Given the description of an element on the screen output the (x, y) to click on. 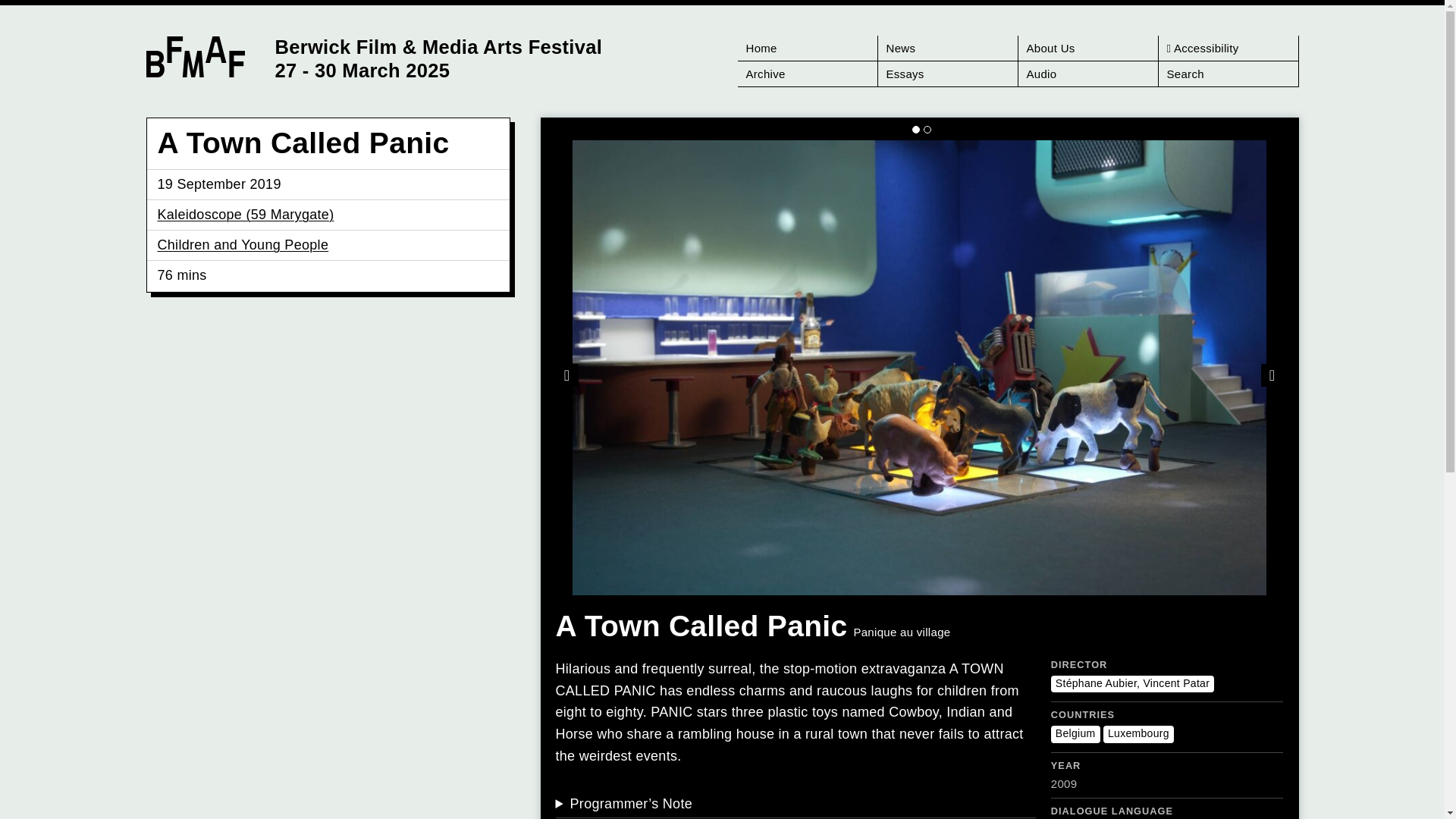
Belgium (1075, 733)
About Us (1087, 48)
Audio (1087, 73)
Accessibility (1228, 48)
News (947, 48)
Children and Young People (243, 244)
Essays (947, 73)
Home (806, 48)
Archive (806, 73)
Search (1228, 73)
Luxembourg (1138, 733)
